Given the description of an element on the screen output the (x, y) to click on. 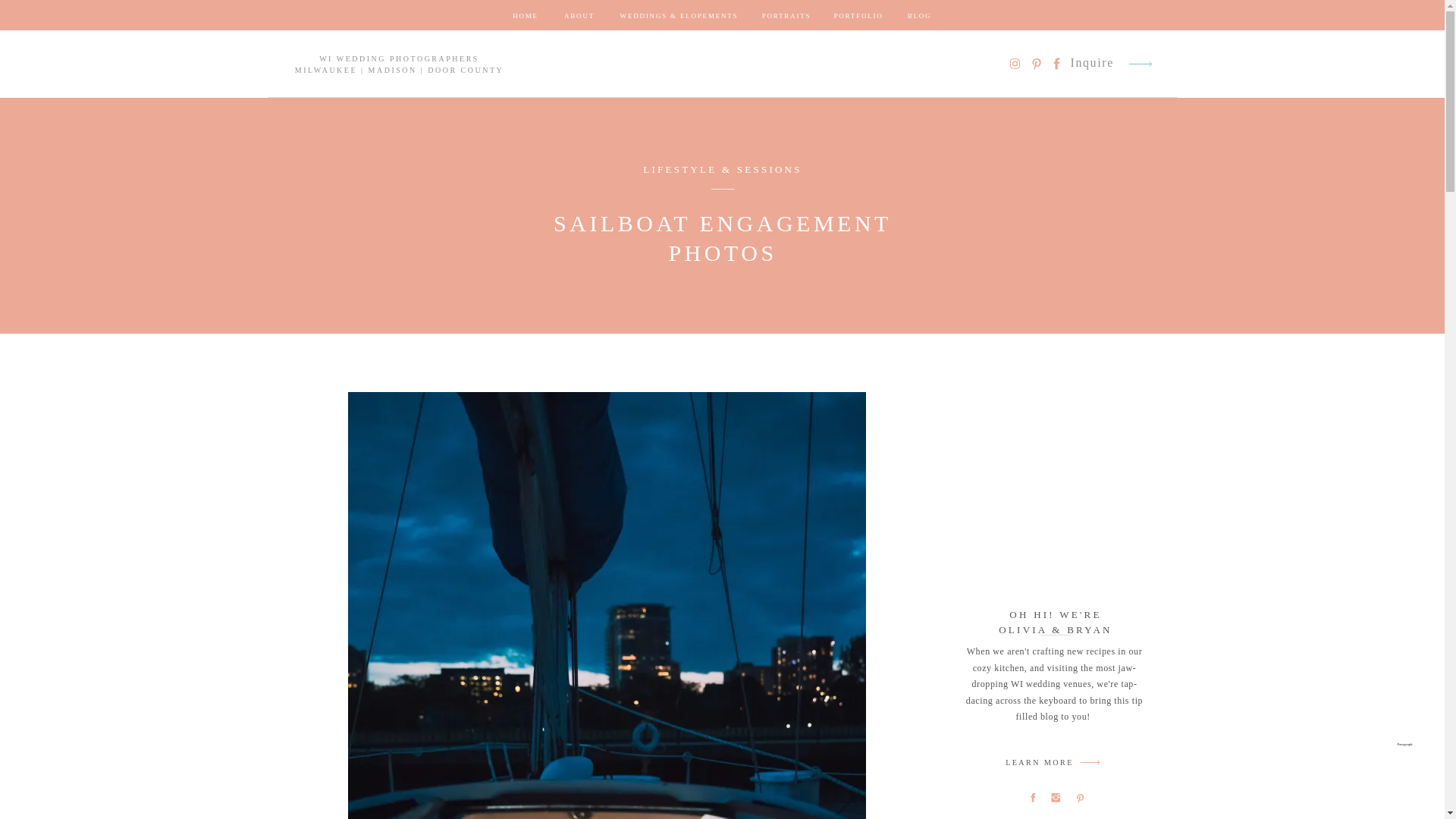
PORTFOLIO (858, 16)
LEARN MORE (1039, 764)
BLOG (919, 16)
HOME (524, 16)
arrow (1140, 63)
PORTRAITS (785, 16)
ABOUT (579, 16)
arrow (1140, 63)
Inquire  (1092, 64)
arrow (1089, 762)
